Given the description of an element on the screen output the (x, y) to click on. 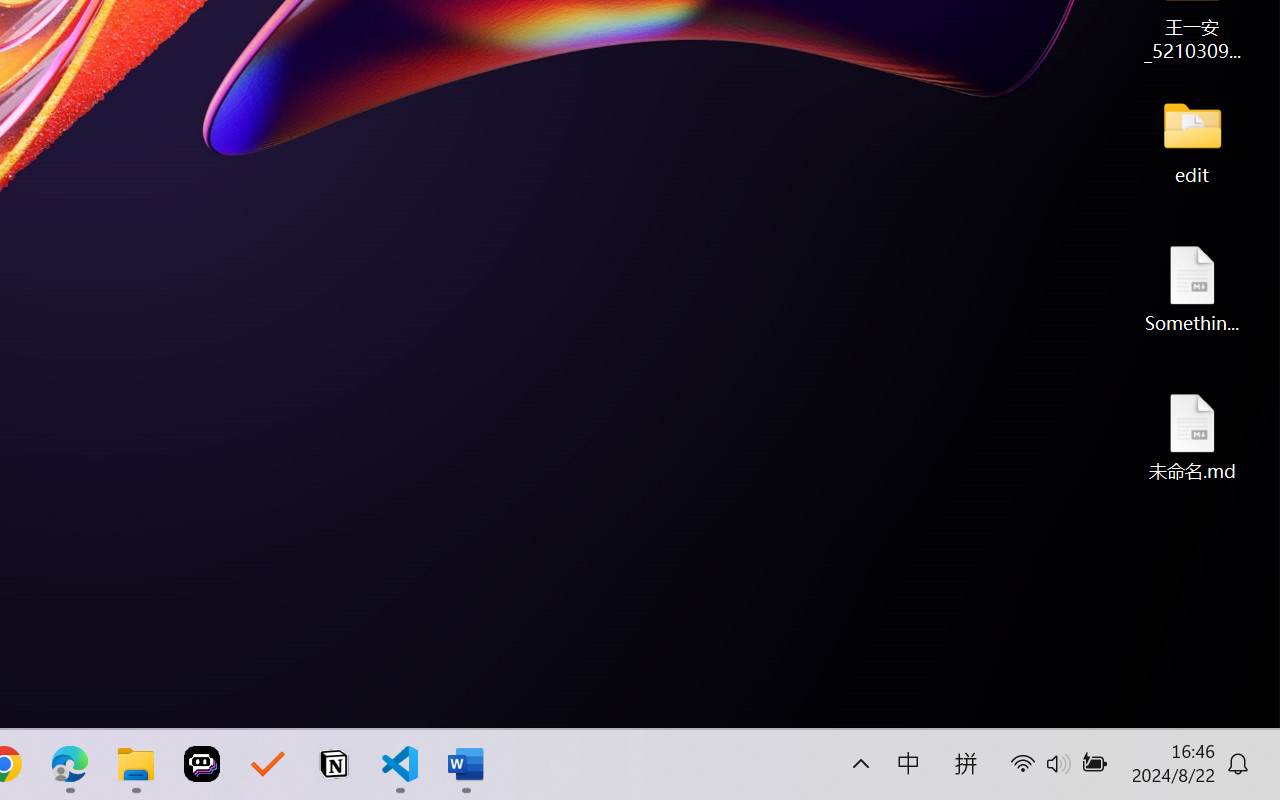
Something.md (1192, 288)
edit (1192, 140)
